Given the description of an element on the screen output the (x, y) to click on. 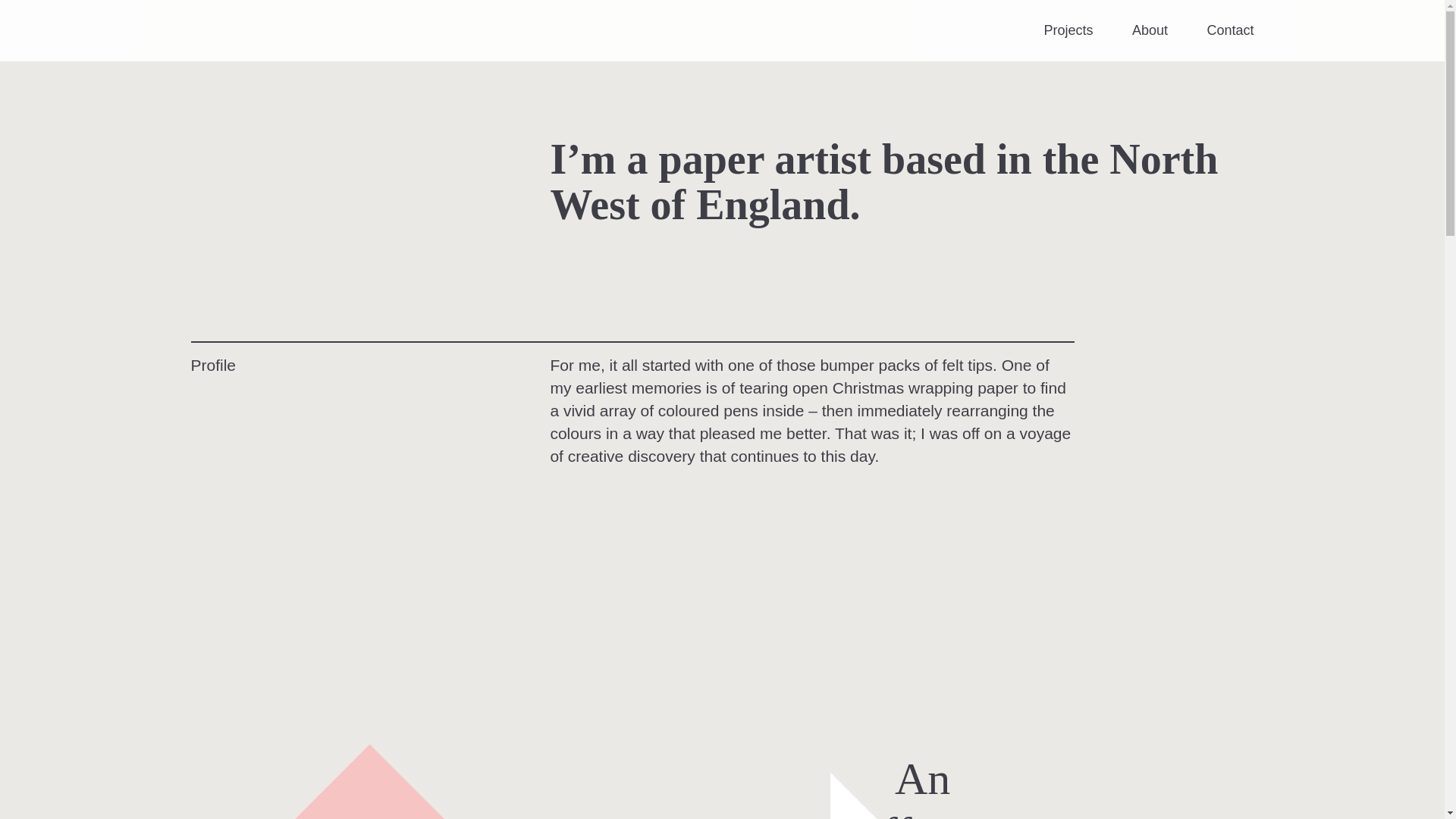
About (1149, 30)
Contact (1230, 30)
Projects (1068, 30)
Helen Musselwhite (207, 30)
